Given the description of an element on the screen output the (x, y) to click on. 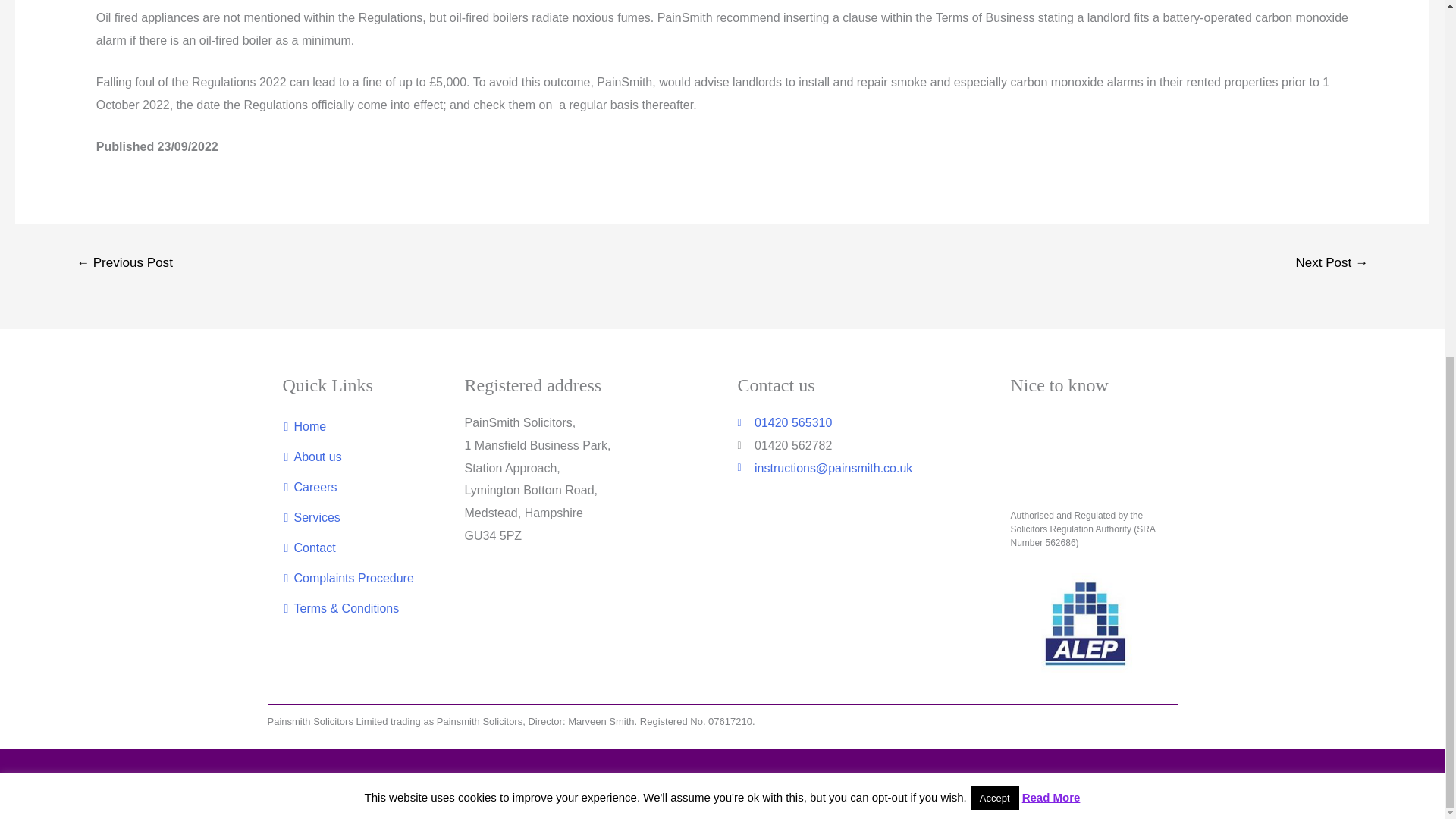
Contact (353, 548)
01420 565310 (857, 422)
About us (353, 457)
Accept (995, 168)
Home (353, 426)
Services (353, 517)
Complaints Procedure (353, 578)
Read More (1051, 167)
Privacy Policy (171, 783)
Careers (353, 487)
